Given the description of an element on the screen output the (x, y) to click on. 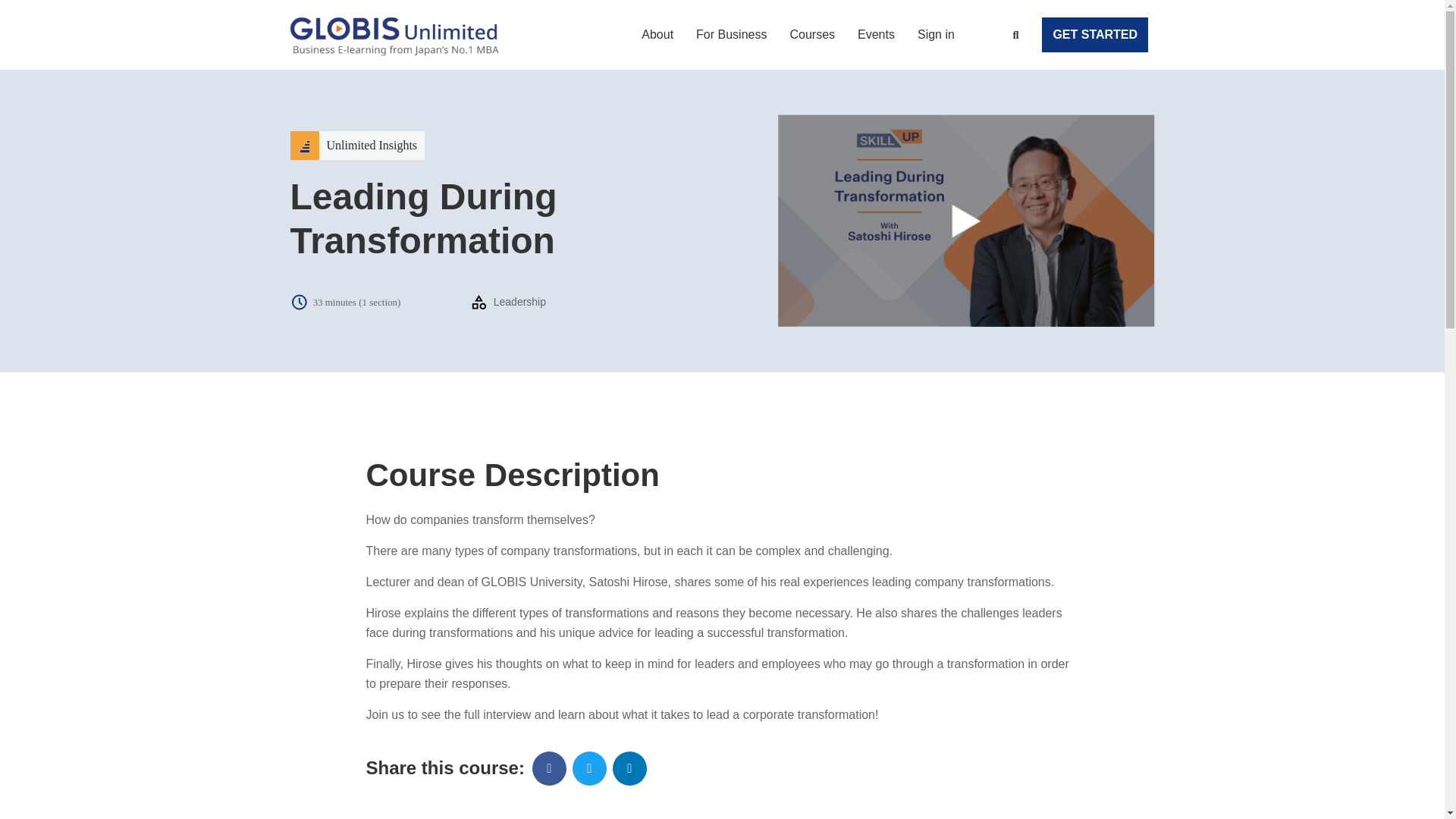
For Business (731, 34)
Courses (811, 34)
GET STARTED (1095, 34)
Events (876, 34)
Sign in (936, 34)
